Given the description of an element on the screen output the (x, y) to click on. 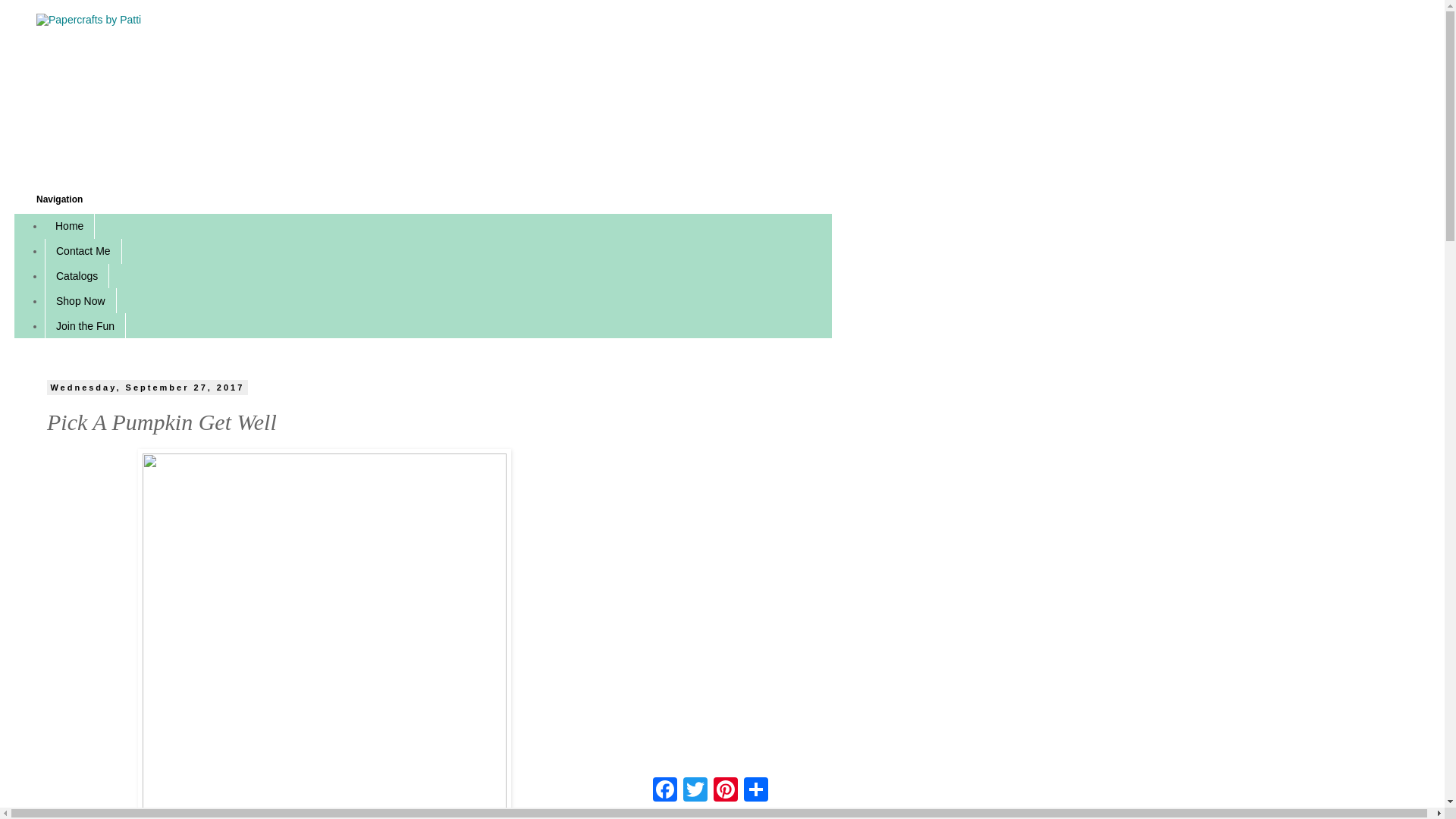
Join the Fun (85, 325)
Catalogs (77, 276)
Home (69, 226)
Contact Me (83, 251)
Shop Now (80, 300)
